Given the description of an element on the screen output the (x, y) to click on. 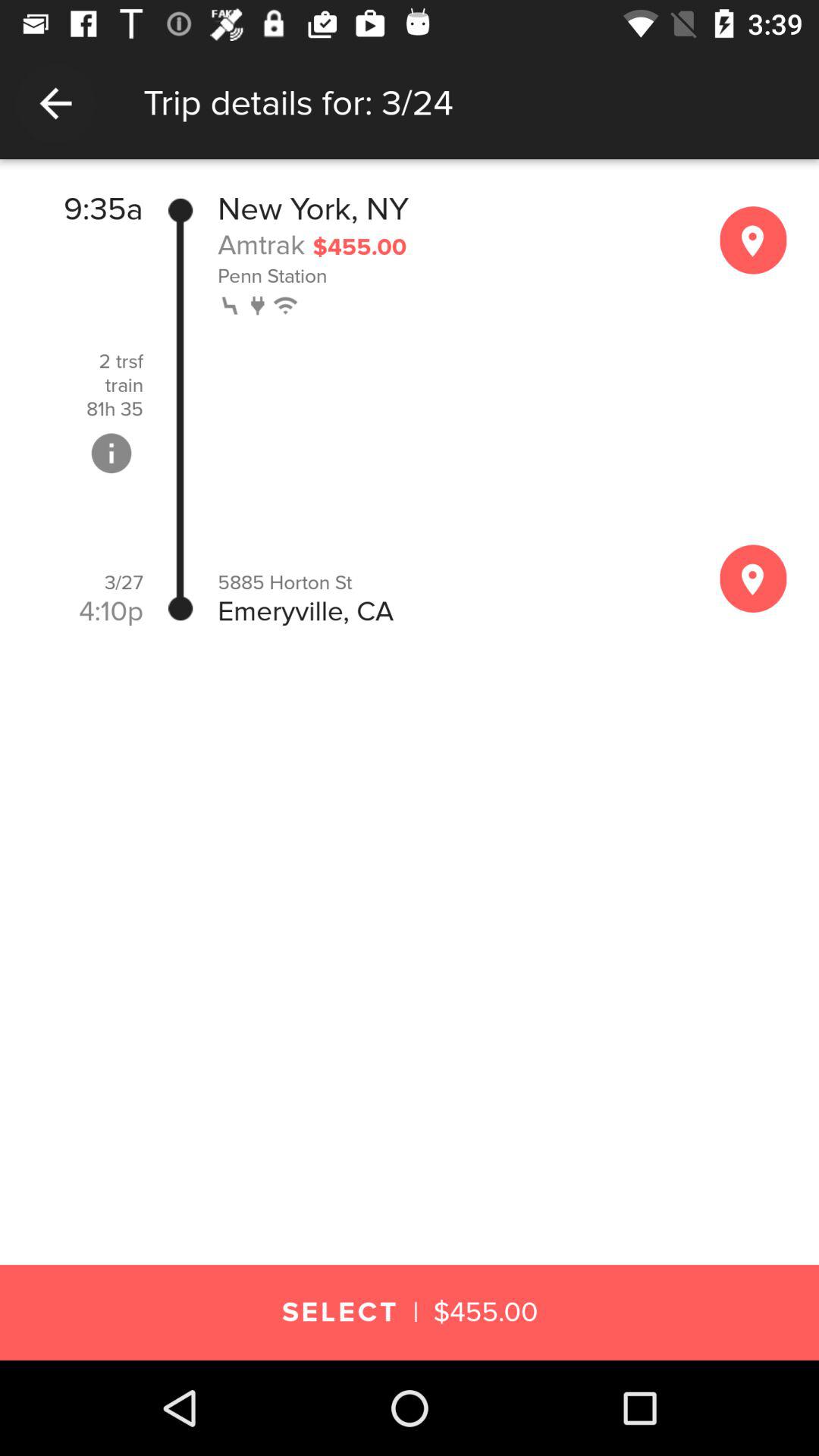
press the item above the 9:35a item (409, 175)
